Given the description of an element on the screen output the (x, y) to click on. 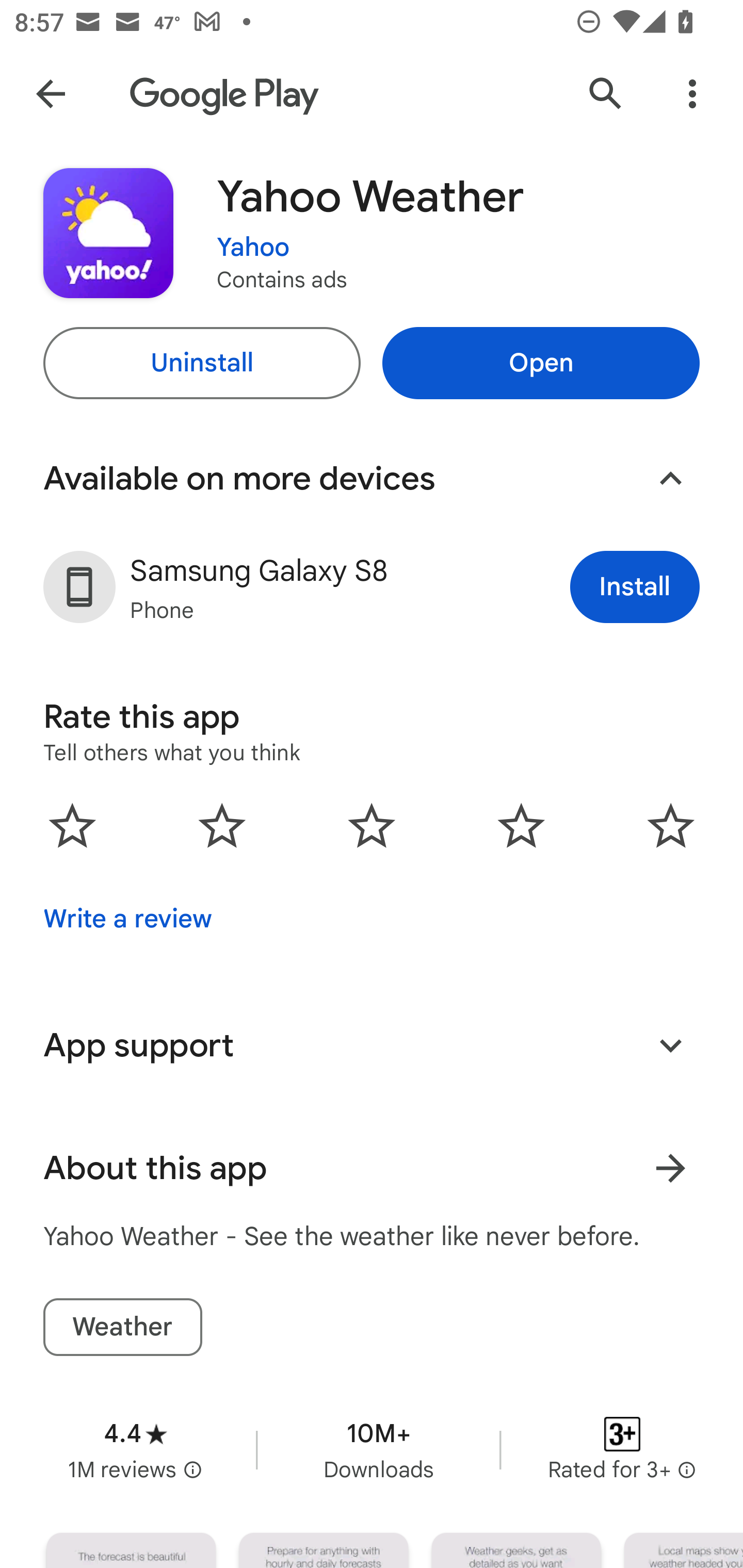
Navigate up (50, 93)
Search Google Play (605, 93)
More Options (692, 93)
Yahoo (253, 247)
Uninstall (201, 362)
Open (540, 362)
Available on more devices Collapse (371, 478)
Collapse (670, 478)
Install (634, 587)
0.0 (371, 825)
Write a review (127, 919)
App support Expand (371, 1045)
Expand (670, 1044)
About this app Learn more About this app (371, 1167)
Learn more About this app (670, 1168)
Weather tag (122, 1327)
Average rating 4.4 stars in 1 million reviews (135, 1450)
Content rating Rated for 3+ (622, 1450)
Screenshot "1" of "5" (130, 1550)
Screenshot "2" of "5" (323, 1550)
Screenshot "3" of "5" (515, 1550)
Screenshot "4" of "5" (683, 1550)
